Given the description of an element on the screen output the (x, y) to click on. 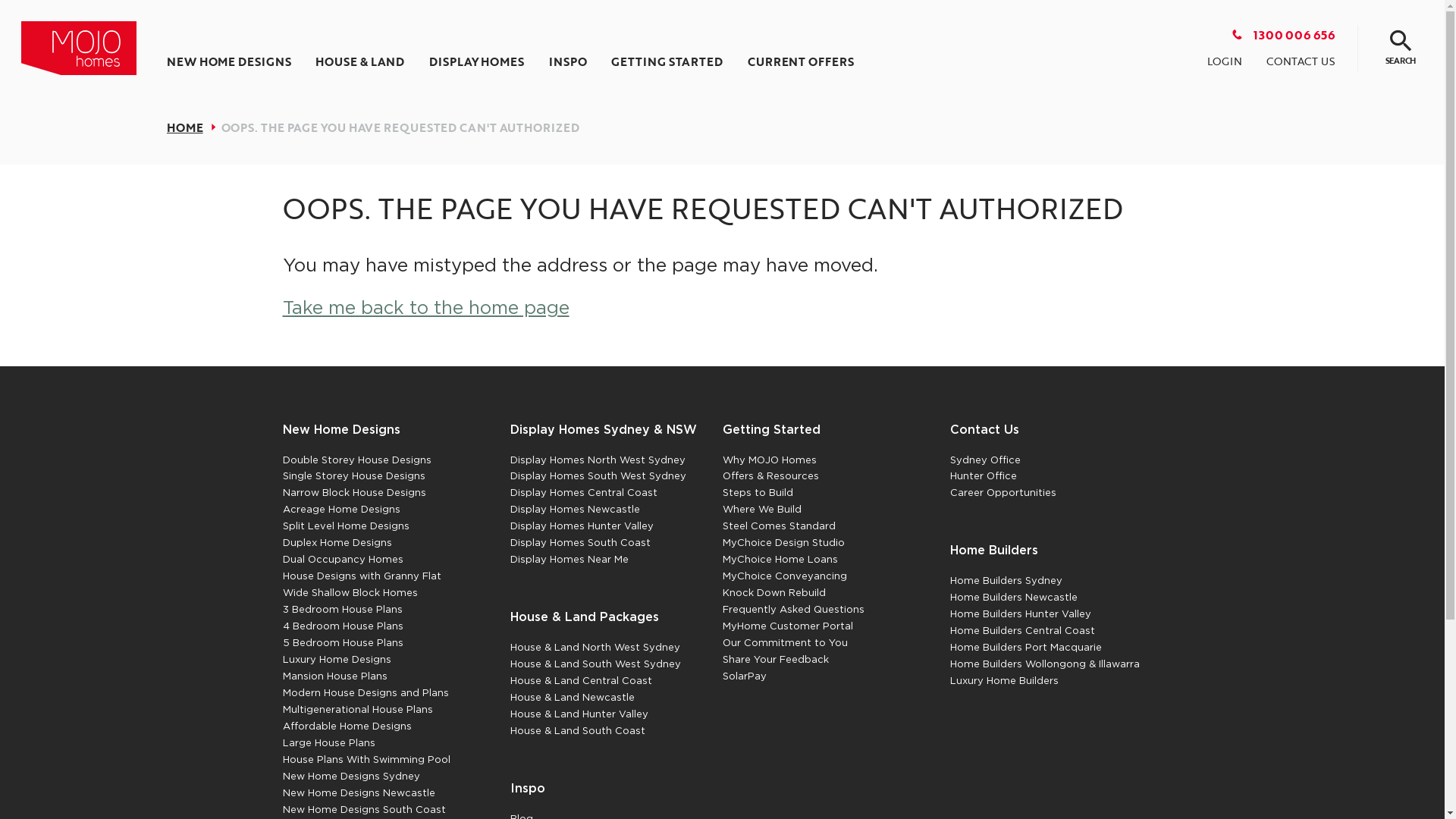
New Home Designs Sydney Element type: text (350, 776)
Double Storey House Designs Element type: text (356, 459)
Display Homes Hunter Valley Element type: text (580, 526)
Sydney Office Element type: text (984, 459)
Single Storey House Designs Element type: text (353, 476)
5 Bedroom House Plans Element type: text (342, 643)
MyChoice Home Loans Element type: text (779, 559)
Split Level Home Designs Element type: text (345, 526)
MyHome Customer Portal Element type: text (786, 626)
Acreage Home Designs Element type: text (340, 509)
New Home Designs Newcastle Element type: text (358, 793)
Home Builders Port Macquarie Element type: text (1025, 647)
New Home Designs South Coast Element type: text (363, 810)
3 Bedroom House Plans Element type: text (341, 610)
Affordable Home Designs Element type: text (346, 726)
Narrow Block House Designs Element type: text (353, 493)
CONTACT US Element type: text (1300, 61)
Knock Down Rebuild Element type: text (773, 593)
Our Commitment to You Element type: text (784, 643)
House & Land Newcastle Element type: text (571, 697)
Why MOJO Homes Element type: text (768, 459)
Hunter Office Element type: text (982, 476)
Large House Plans Element type: text (328, 743)
Duplex Home Designs Element type: text (336, 543)
House & Land South Coast Element type: text (576, 731)
HOUSE & LAND Element type: text (359, 62)
Career Opportunities Element type: text (1002, 493)
Mansion House Plans Element type: text (334, 676)
1300 006 656 Element type: text (1283, 34)
Display Homes Sydney & NSW Element type: text (602, 430)
SolarPay Element type: text (743, 676)
Share Your Feedback Element type: text (774, 660)
GETTING STARTED Element type: text (666, 62)
CURRENT OFFERS Element type: text (800, 62)
4 Bedroom House Plans Element type: text (342, 626)
INSPO Element type: text (567, 62)
Display Homes Newcastle Element type: text (574, 509)
House Plans With Swimming Pool Element type: text (365, 760)
Home Builders Element type: text (993, 550)
House & Land North West Sydney Element type: text (594, 647)
Take me back to the home page Element type: text (425, 307)
HOME Element type: text (184, 127)
LOGIN Element type: text (1224, 61)
Home Builders Hunter Valley Element type: text (1019, 614)
House & Land Packages Element type: text (583, 617)
Steps to Build Element type: text (756, 493)
House & Land South West Sydney Element type: text (594, 664)
MyChoice Design Studio Element type: text (782, 543)
Where We Build Element type: text (760, 509)
Display Homes Near Me Element type: text (568, 559)
Steel Comes Standard Element type: text (777, 526)
Inspo Element type: text (526, 788)
Dual Occupancy Homes Element type: text (342, 559)
Home Builders Sydney Element type: text (1005, 581)
Contact Us Element type: text (983, 430)
Wide Shallow Block Homes Element type: text (349, 593)
House & Land Hunter Valley Element type: text (578, 714)
Display Homes North West Sydney Element type: text (596, 459)
DISPLAY HOMES Element type: text (476, 62)
Display Homes Central Coast Element type: text (582, 493)
Luxury Home Designs Element type: text (336, 660)
Offers & Resources Element type: text (769, 476)
Display Homes South West Sydney Element type: text (597, 476)
Home Builders Wollongong & Illawarra Element type: text (1044, 664)
New Home Designs Element type: text (340, 430)
Getting Started Element type: text (770, 430)
NEW HOME DESIGNS Element type: text (228, 62)
SEARCH Element type: text (1400, 48)
Modern House Designs and Plans Element type: text (365, 693)
Home Builders Central Coast Element type: text (1021, 631)
Skip to main content Element type: text (0, 0)
Home Builders Newcastle Element type: text (1012, 597)
Frequently Asked Questions Element type: text (792, 610)
MyChoice Conveyancing Element type: text (783, 576)
Home Element type: hover (78, 48)
House & Land Central Coast Element type: text (580, 681)
Display Homes South Coast Element type: text (579, 543)
Multigenerational House Plans Element type: text (357, 710)
Luxury Home Builders Element type: text (1003, 681)
House Designs with Granny Flat Element type: text (361, 576)
